Given the description of an element on the screen output the (x, y) to click on. 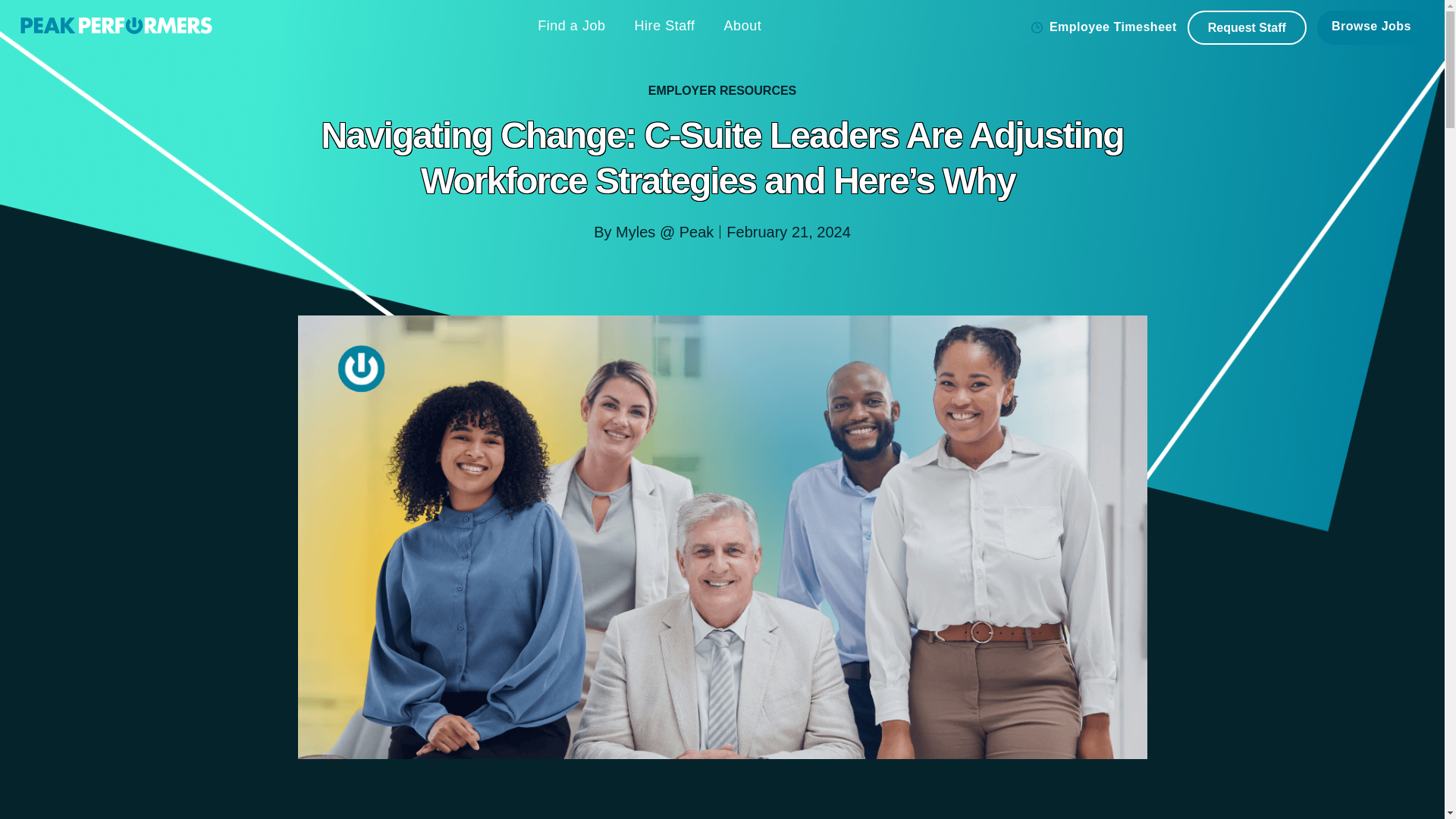
About (742, 25)
Browse Jobs (1371, 27)
Find a Job (571, 25)
Hire Staff (664, 25)
Employee Timesheet (1103, 27)
Request Staff (1247, 27)
February 21, 2024 (788, 231)
EMPLOYER RESOURCES (721, 90)
